Given the description of an element on the screen output the (x, y) to click on. 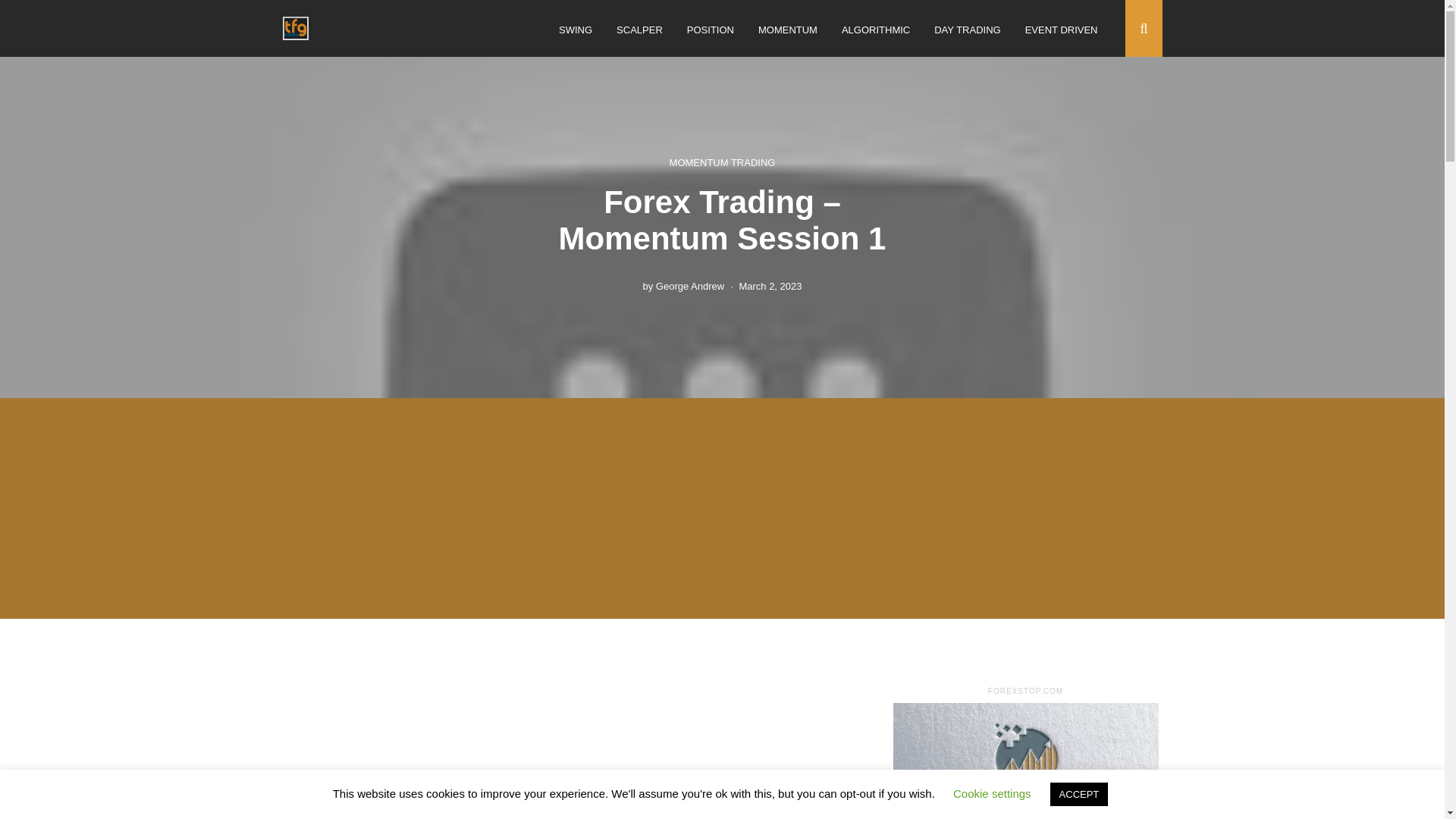
ALGORITHMIC (875, 30)
POSITION (710, 30)
SWING (575, 30)
EVENT DRIVEN (1061, 30)
SCALPER (638, 30)
MOMENTUM (787, 30)
Advertisement (721, 409)
DAY TRADING (967, 30)
MOMENTUM TRADING (722, 162)
George Andrew (689, 285)
